Given the description of an element on the screen output the (x, y) to click on. 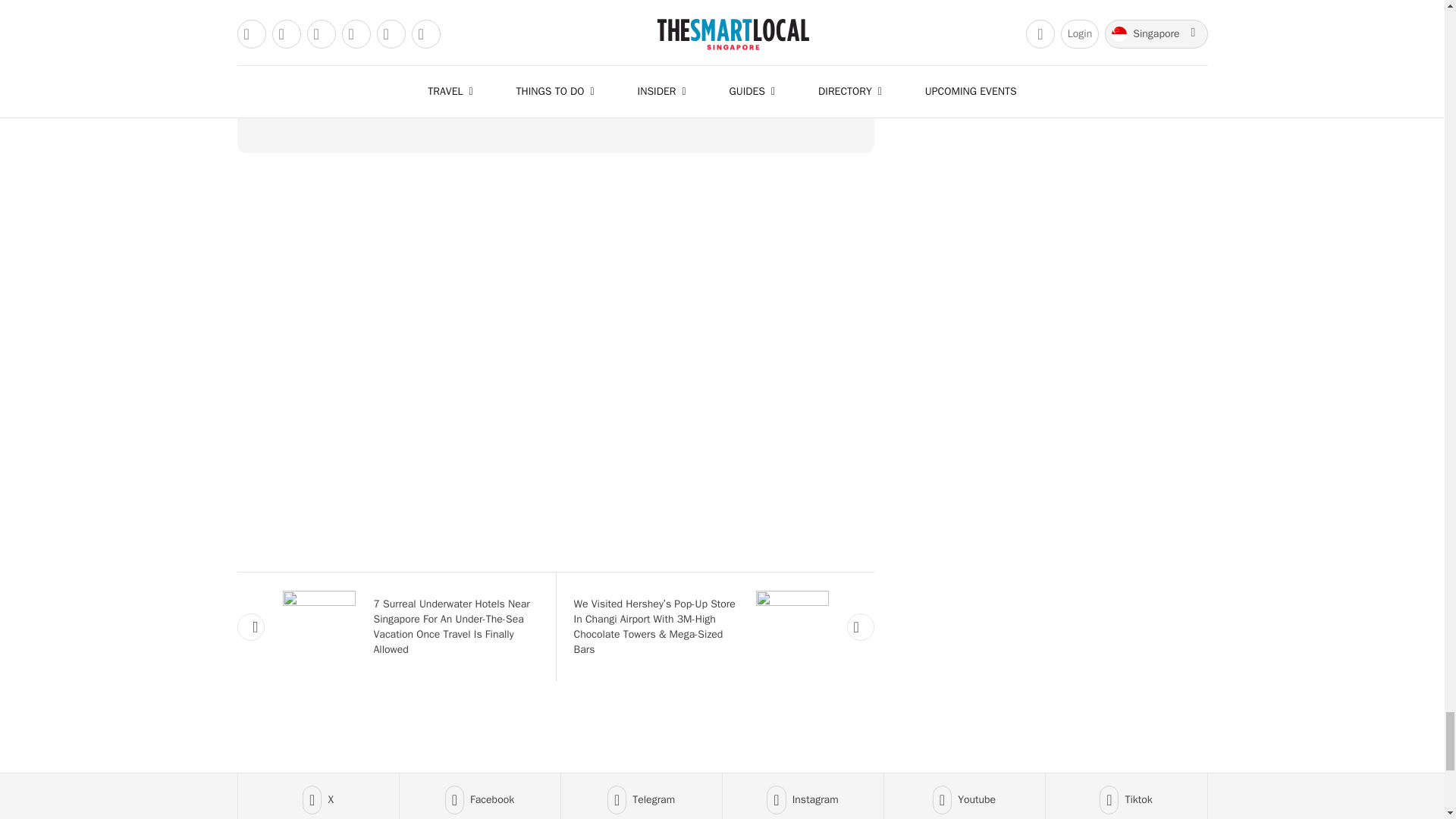
subscribe (554, 91)
